Given the description of an element on the screen output the (x, y) to click on. 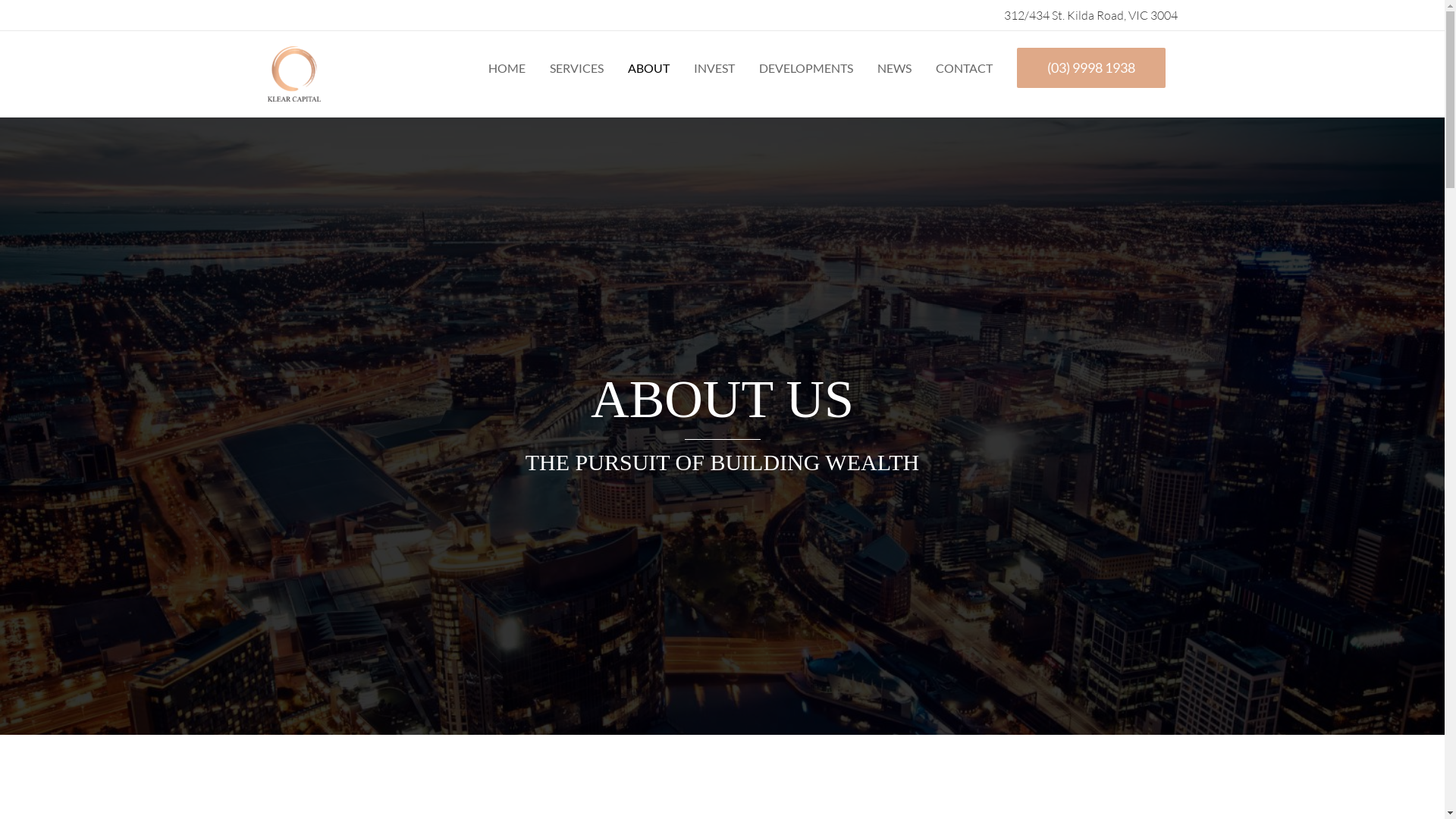
DEVELOPMENTS Element type: text (805, 67)
SERVICES Element type: text (575, 67)
(03) 9998 1938 Element type: text (1090, 67)
CONTACT Element type: text (963, 67)
(03) 9998 1938 Element type: text (1090, 67)
ABOUT Element type: text (648, 67)
NEWS Element type: text (893, 67)
INVEST Element type: text (713, 67)
HOME Element type: text (506, 67)
